Given the description of an element on the screen output the (x, y) to click on. 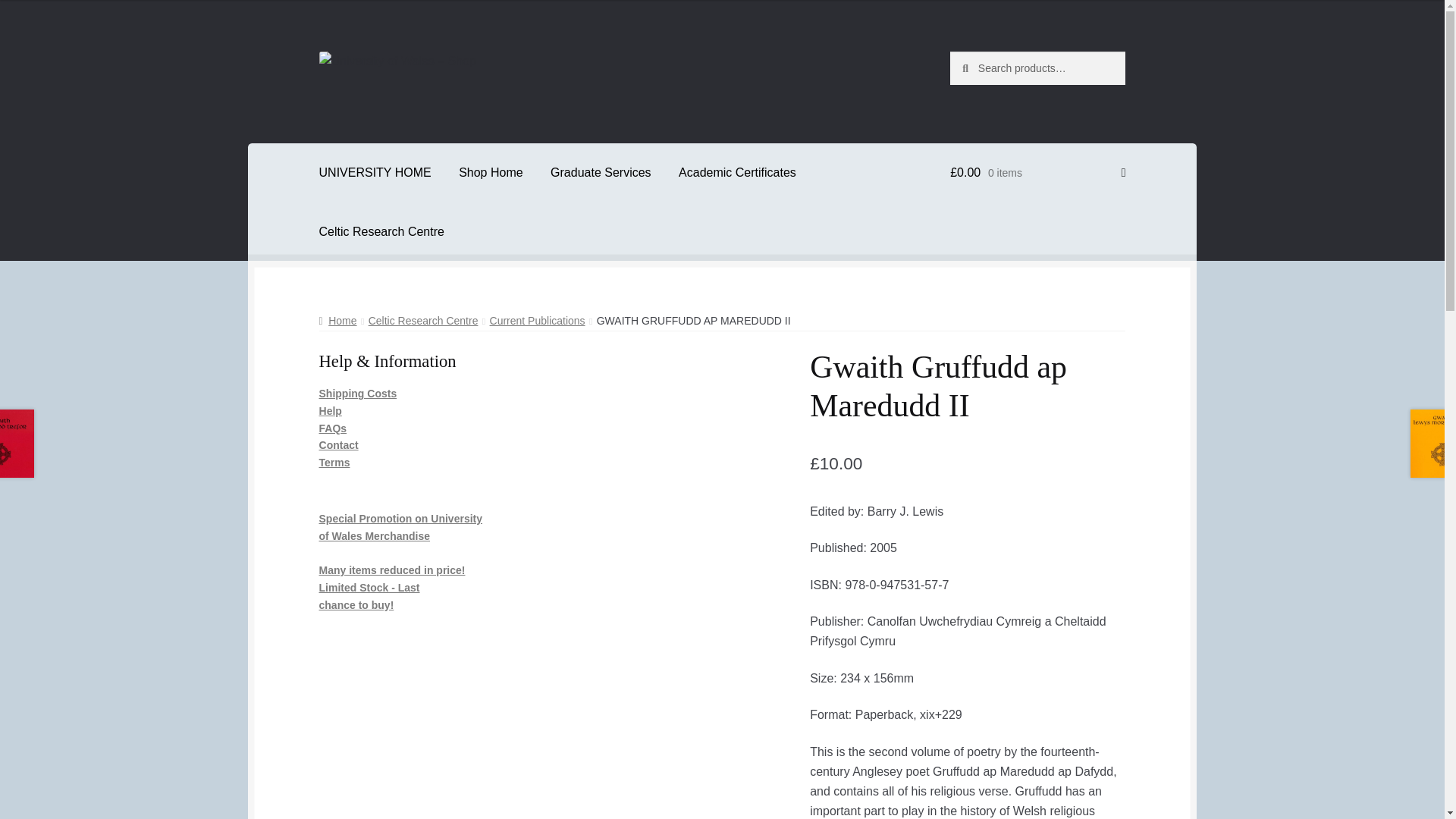
UNIVERSITY HOME (375, 172)
Current Publications (537, 320)
Academic Certificates (737, 172)
Graduate Services (600, 172)
Celtic Research Centre (423, 320)
View your shopping basket (1037, 172)
Shop Home (490, 172)
Celtic Research Centre (382, 231)
